Given the description of an element on the screen output the (x, y) to click on. 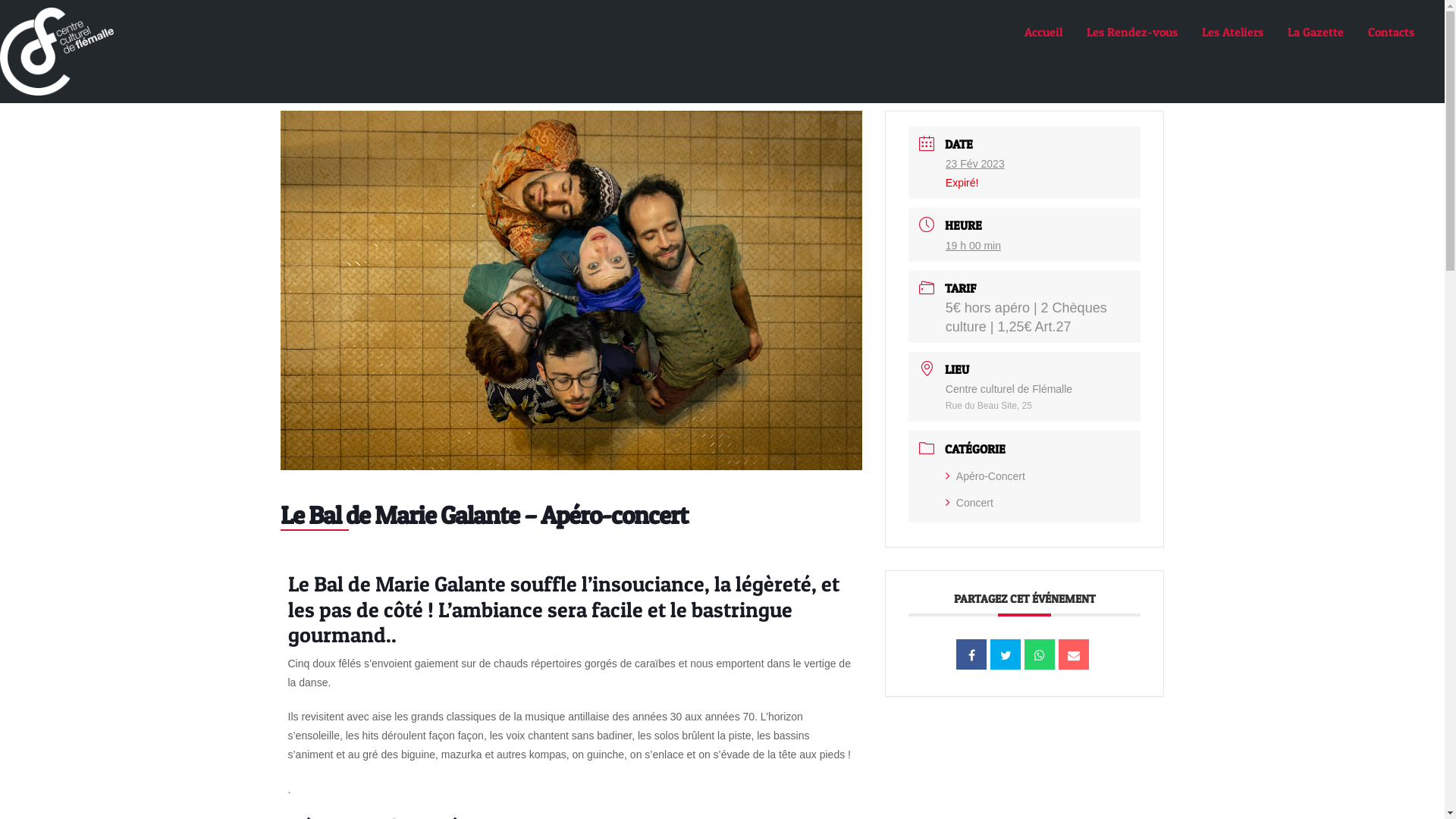
Les Ateliers Element type: text (1232, 31)
Tweet Element type: hover (1005, 653)
Contacts Element type: text (1389, 31)
Partager sur Facebook Element type: hover (971, 653)
Email Element type: hover (1073, 653)
Partagez sur WhatsApp Element type: hover (1039, 653)
La Gazette Element type: text (1315, 31)
Concert Element type: text (969, 502)
Les Rendez-vous Element type: text (1131, 31)
Accueil Element type: text (1043, 31)
